Given the description of an element on the screen output the (x, y) to click on. 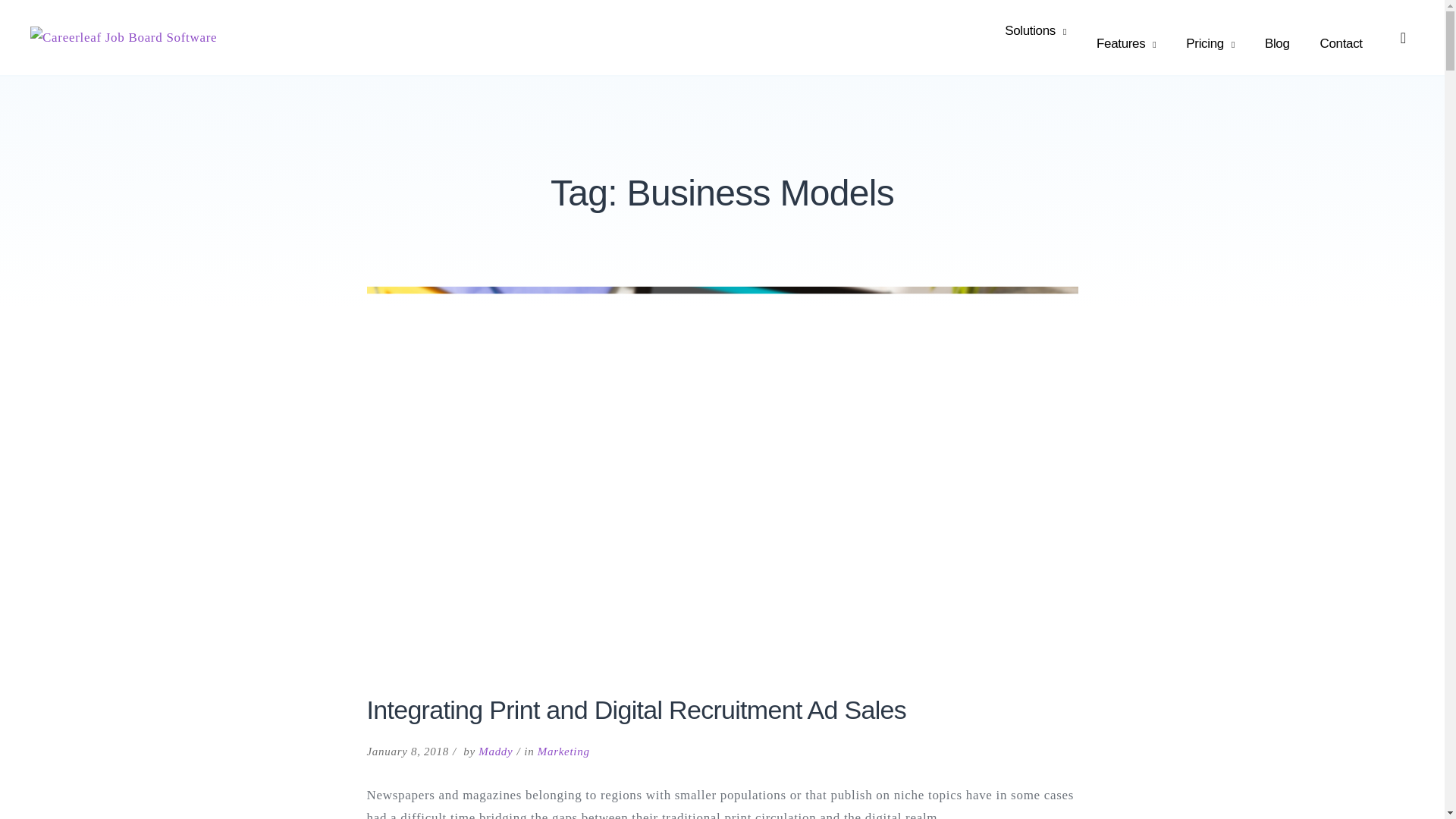
Integrating Print and Digital Recruitment Ad Sales (636, 709)
Solutions (1035, 30)
Contact (1340, 43)
Blog (1276, 43)
Careerleaf Job Board Software (181, 36)
Marketing (563, 750)
Pricing (1209, 43)
Features (1125, 43)
Maddy (495, 750)
